Given the description of an element on the screen output the (x, y) to click on. 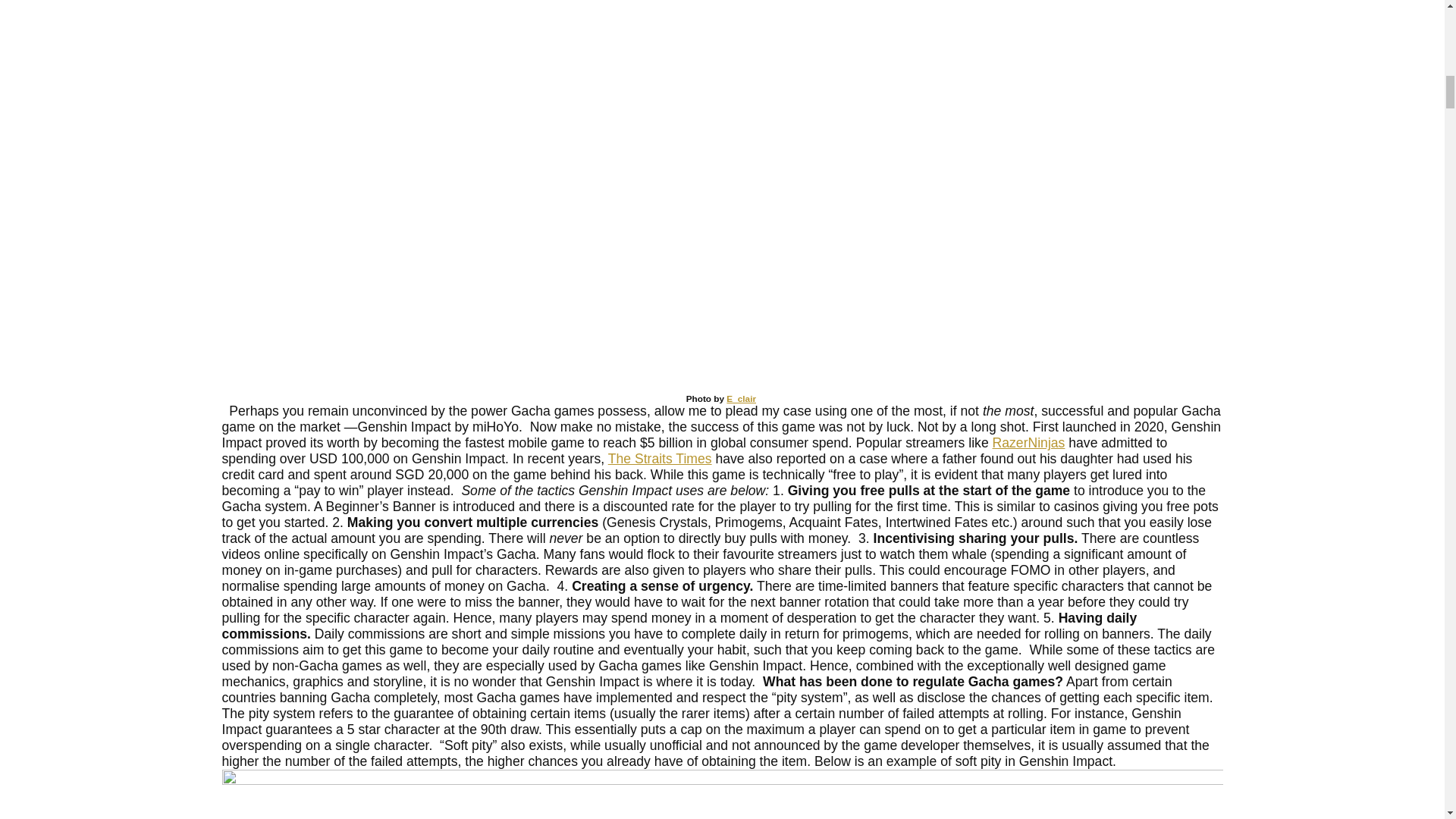
The Straits Times (659, 458)
RazerNinjas (1028, 442)
